Given the description of an element on the screen output the (x, y) to click on. 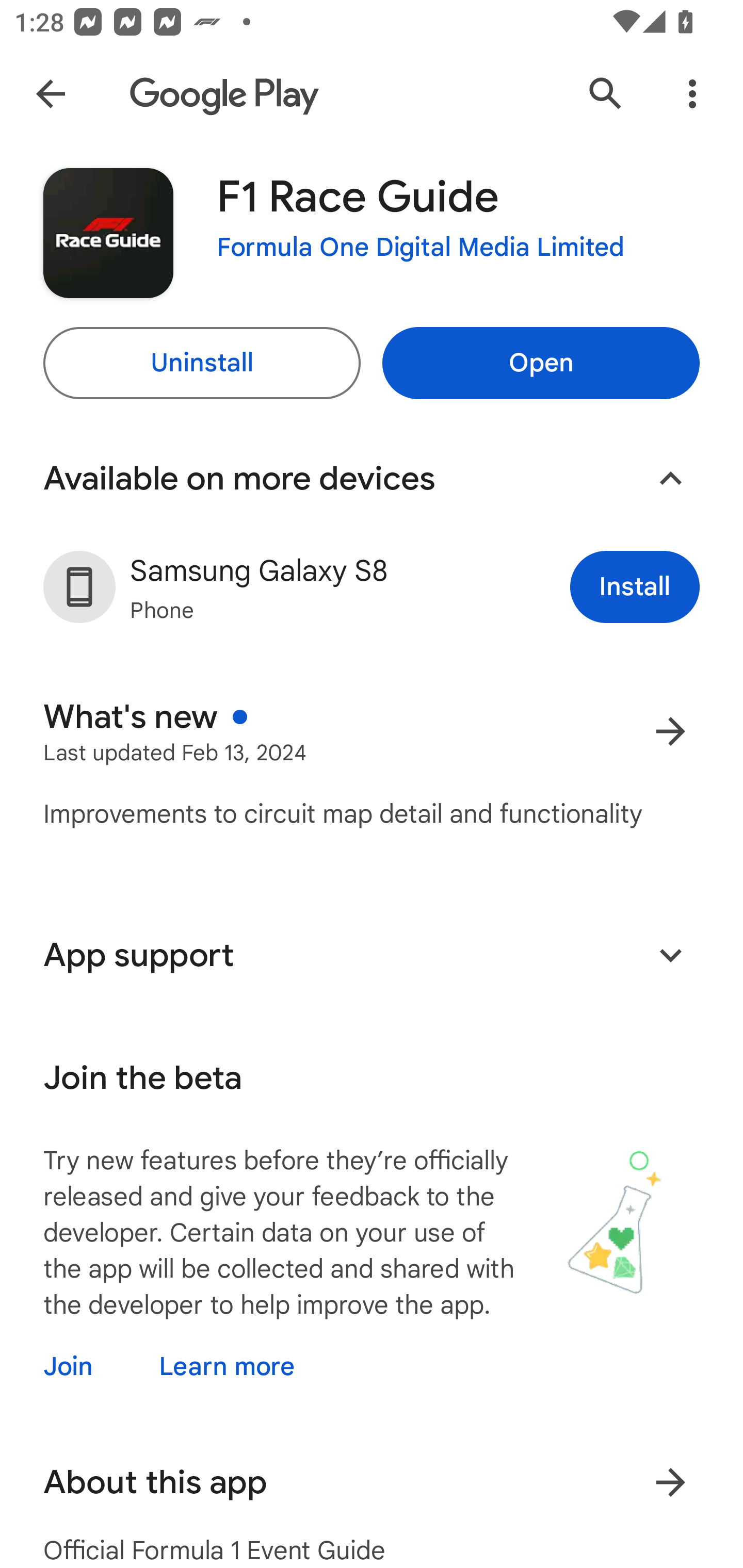
Navigate up (50, 93)
Search Google Play (605, 93)
More Options (692, 93)
Formula One Digital Media Limited (420, 247)
Uninstall (201, 362)
Open (540, 362)
Available on more devices Collapse (371, 478)
Collapse (670, 478)
Install (634, 587)
More results for What's new (670, 731)
App support Expand (371, 954)
Expand (670, 955)
Join (86, 1366)
Learn more (226, 1366)
About this app Learn more About this app (371, 1482)
Learn more About this app (670, 1482)
